Given the description of an element on the screen output the (x, y) to click on. 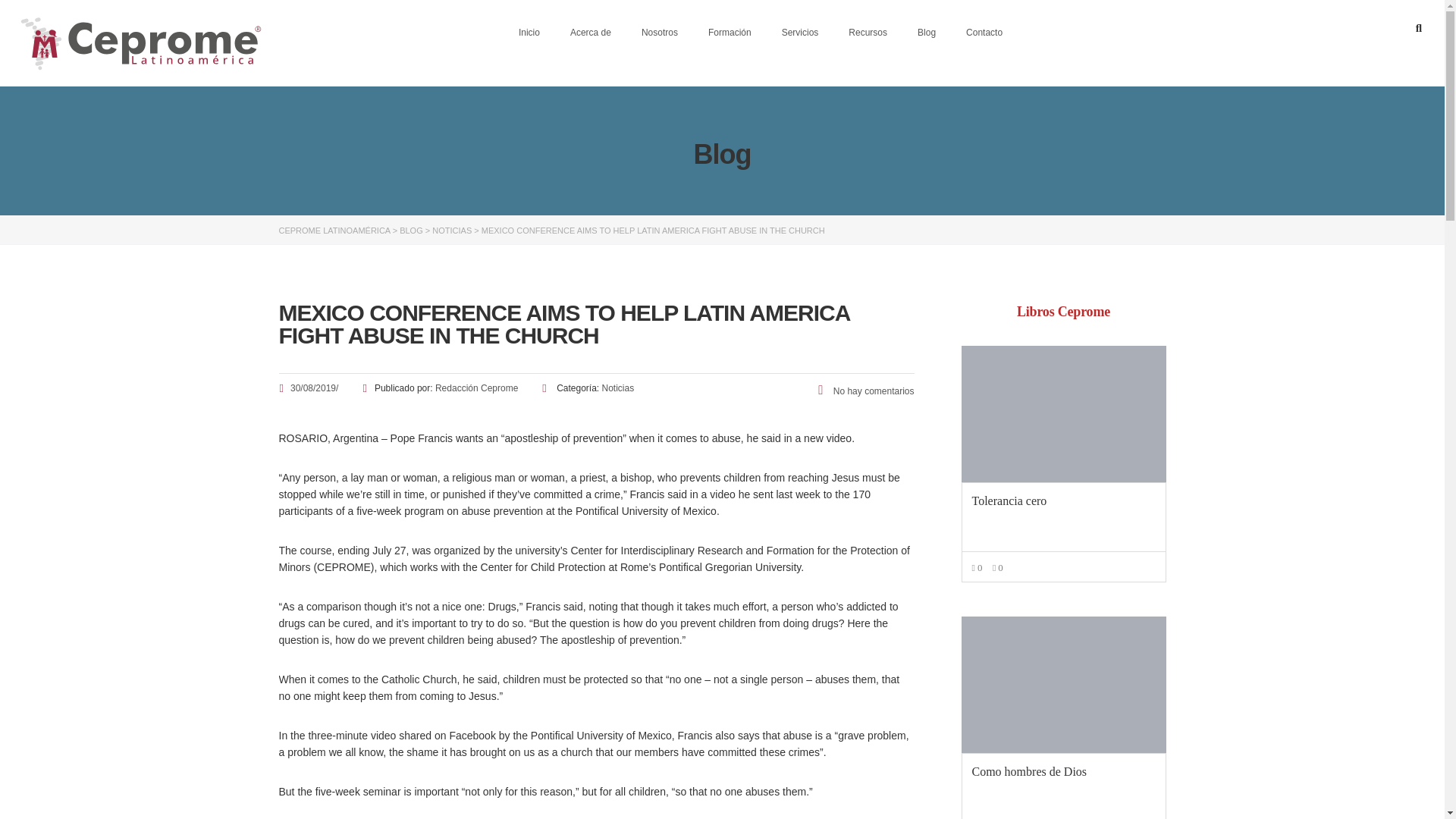
Ver curso - Tolerancia cero (1064, 500)
Ver curso - Como hombres de Dios (1063, 684)
Ir a Blog. (410, 230)
Nosotros (659, 32)
Ver curso - Tolerancia cero (1063, 413)
Acerca de (590, 32)
Inicio (528, 32)
